Given the description of an element on the screen output the (x, y) to click on. 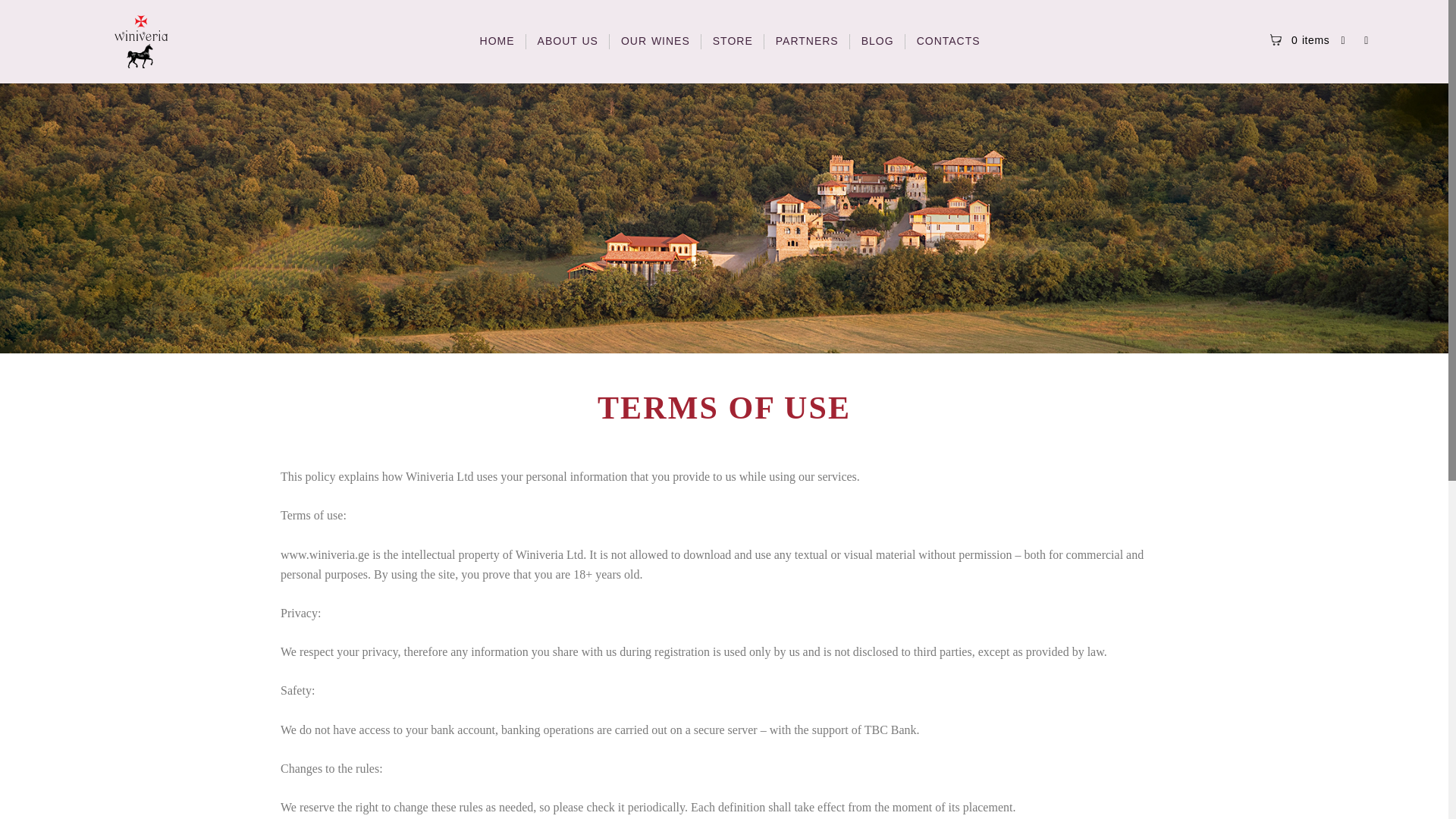
PARTNERS (807, 41)
CONTACTS (948, 41)
0 items (1300, 40)
BLOG (877, 41)
ABOUT US (567, 41)
HOME (496, 41)
OUR WINES (655, 41)
STORE (732, 41)
